Given the description of an element on the screen output the (x, y) to click on. 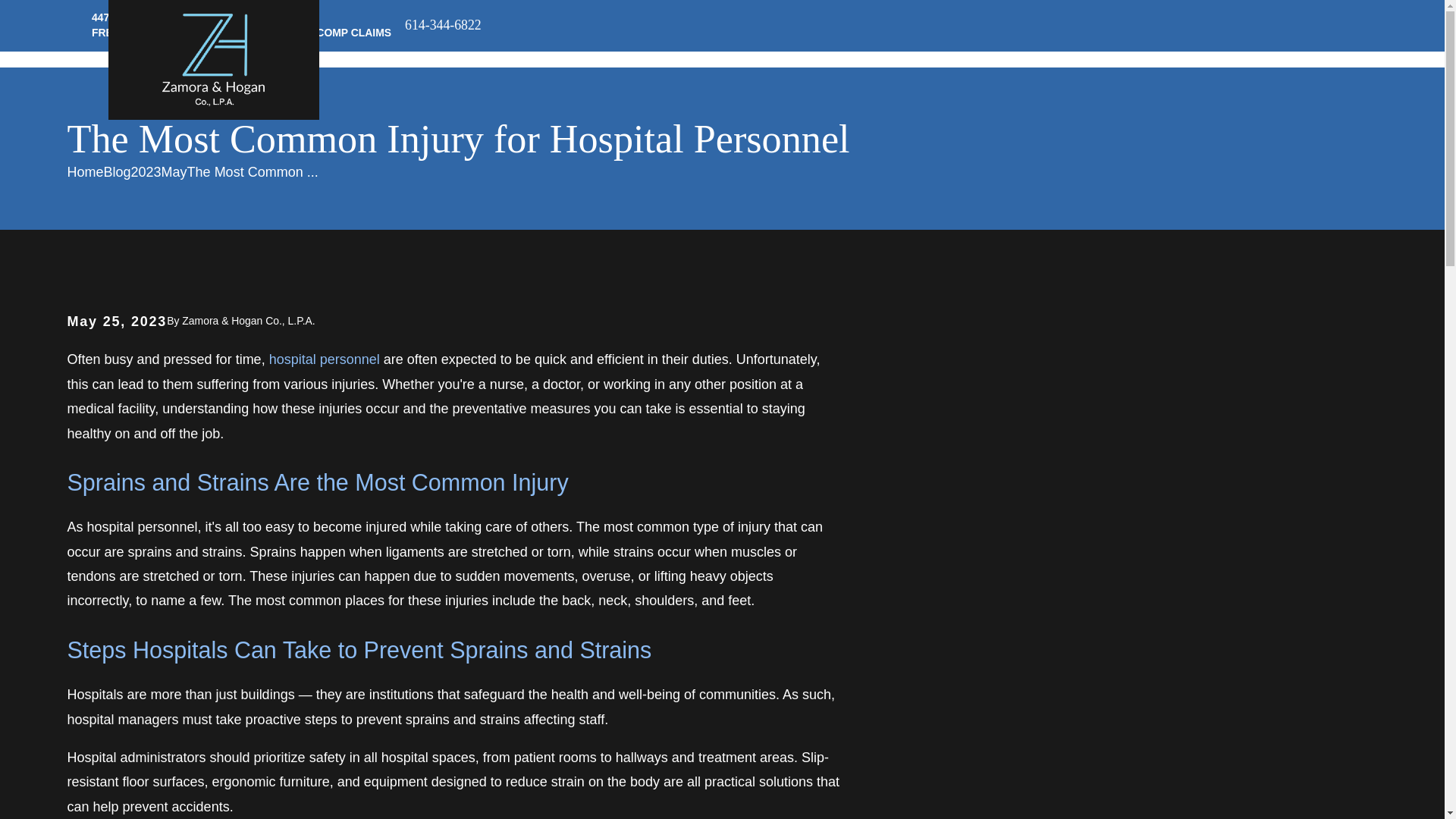
Home (212, 59)
614-344-6822 (442, 25)
Go Home (84, 171)
